Given the description of an element on the screen output the (x, y) to click on. 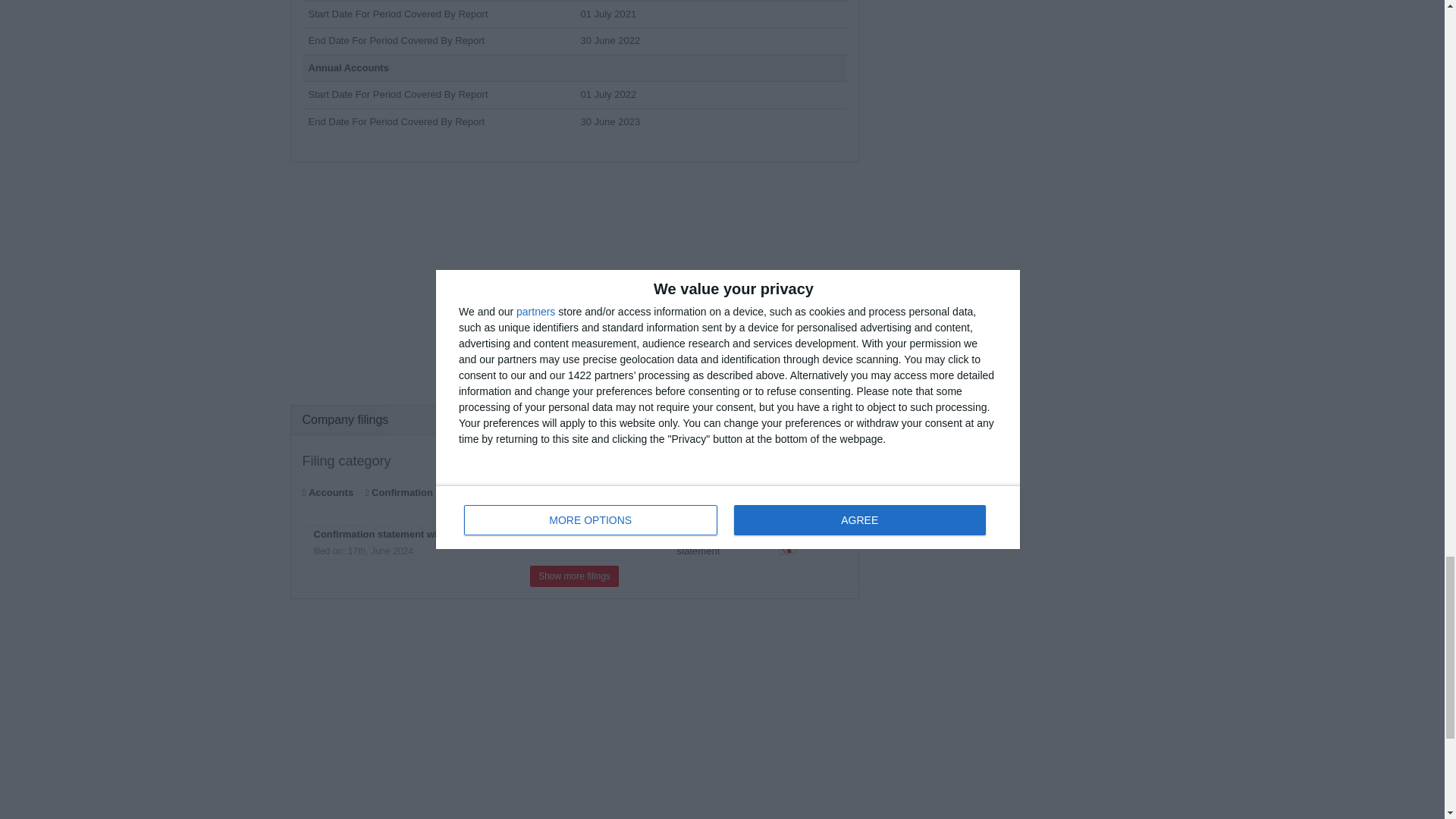
Download the filing (787, 542)
Show more filings (573, 576)
